Given the description of an element on the screen output the (x, y) to click on. 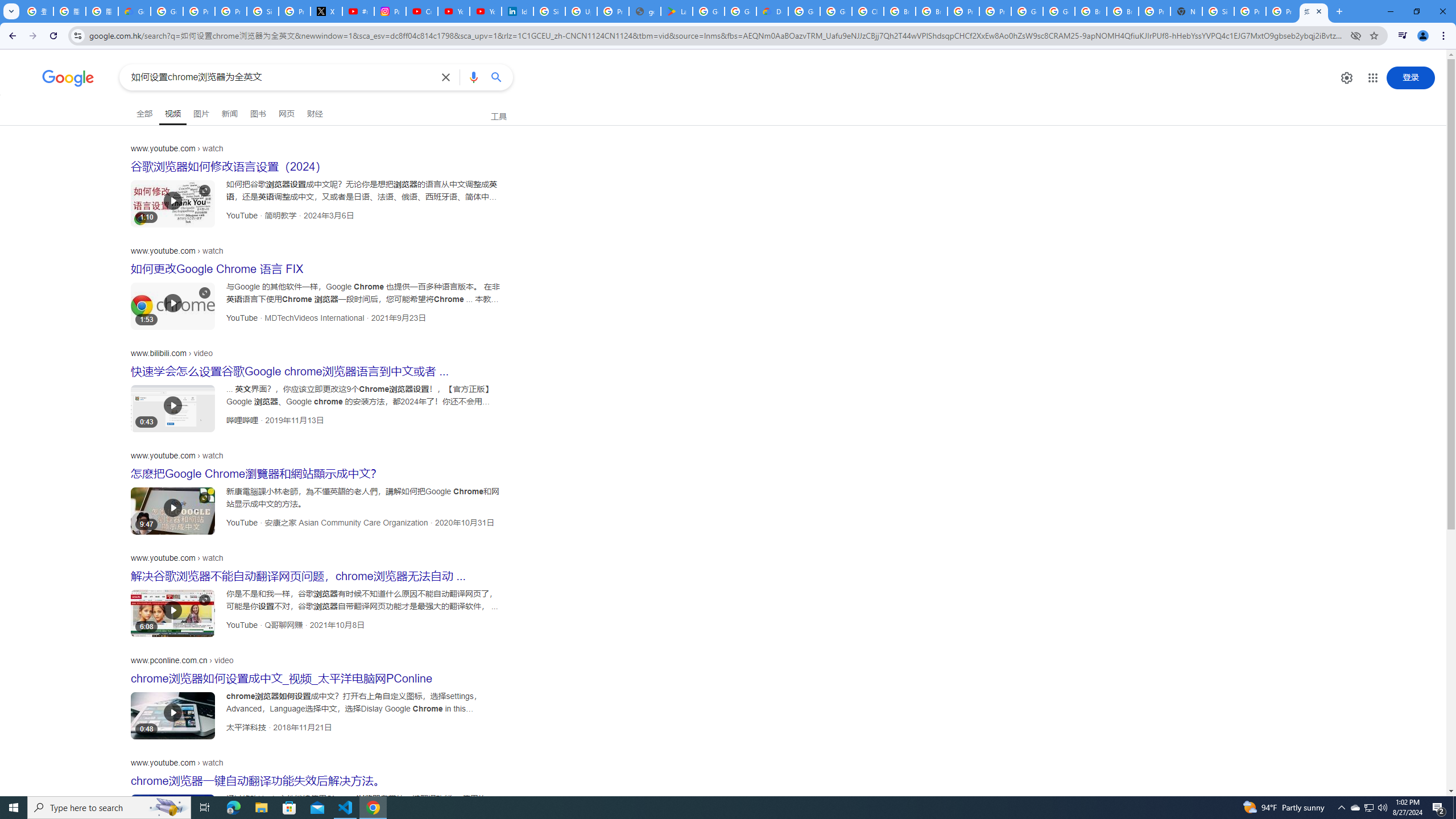
Google Cloud Privacy Notice (134, 11)
Last Shelter: Survival - Apps on Google Play (676, 11)
Google Cloud Platform (804, 11)
Browse Chrome as a guest - Computer - Google Chrome Help (899, 11)
Google Cloud Platform (1027, 11)
YouTube Culture & Trends - YouTube Top 10, 2021 (485, 11)
Sign in - Google Accounts (1217, 11)
